Given the description of an element on the screen output the (x, y) to click on. 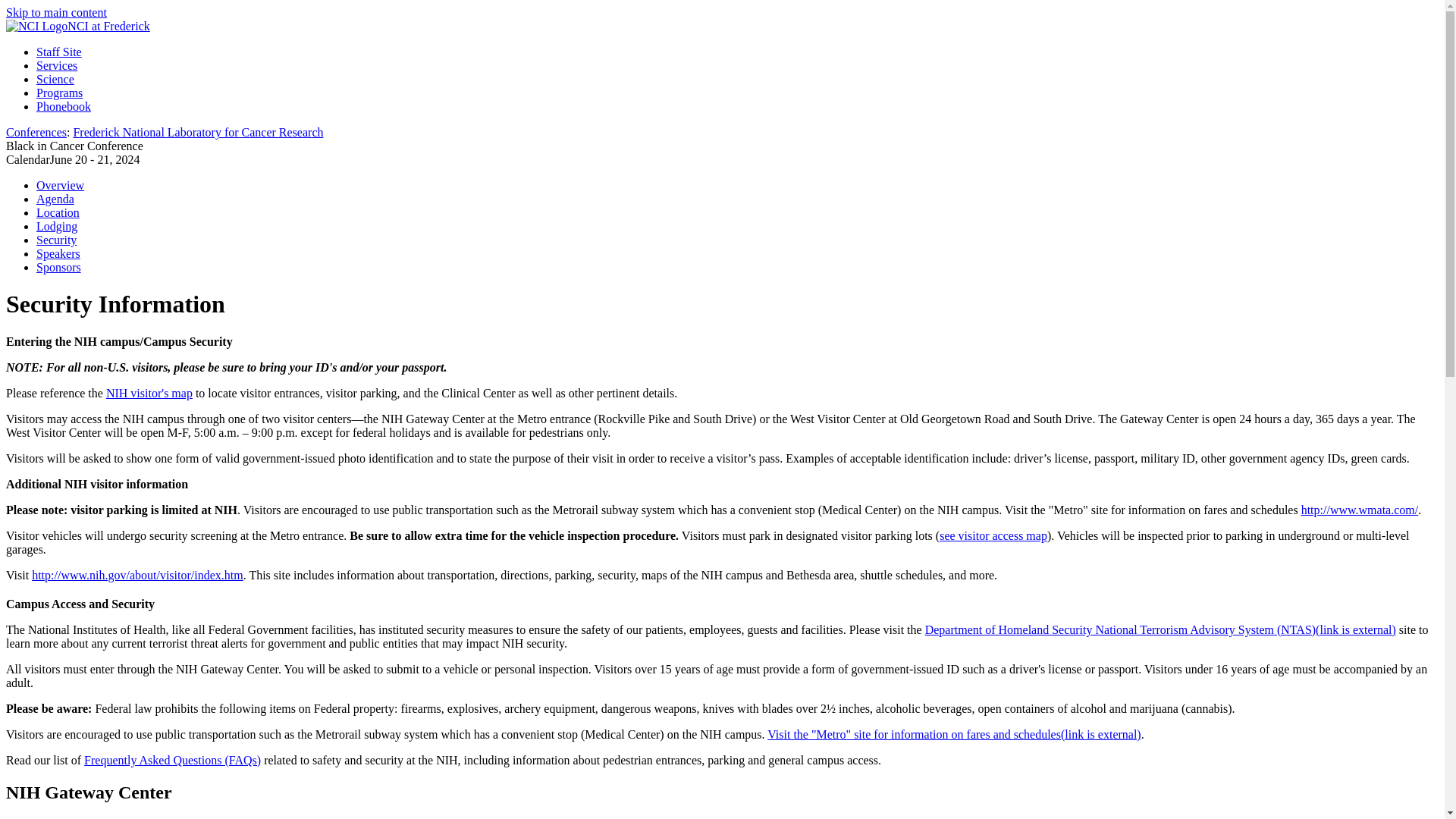
see visitor access map (992, 535)
NIH visitor's map (149, 392)
Science (55, 78)
Lodging (56, 226)
Security (56, 239)
Phonebook (63, 106)
Programs (59, 92)
Overview (60, 185)
Agenda (55, 198)
Frederick National Laboratory for Cancer Research (197, 132)
